Given the description of an element on the screen output the (x, y) to click on. 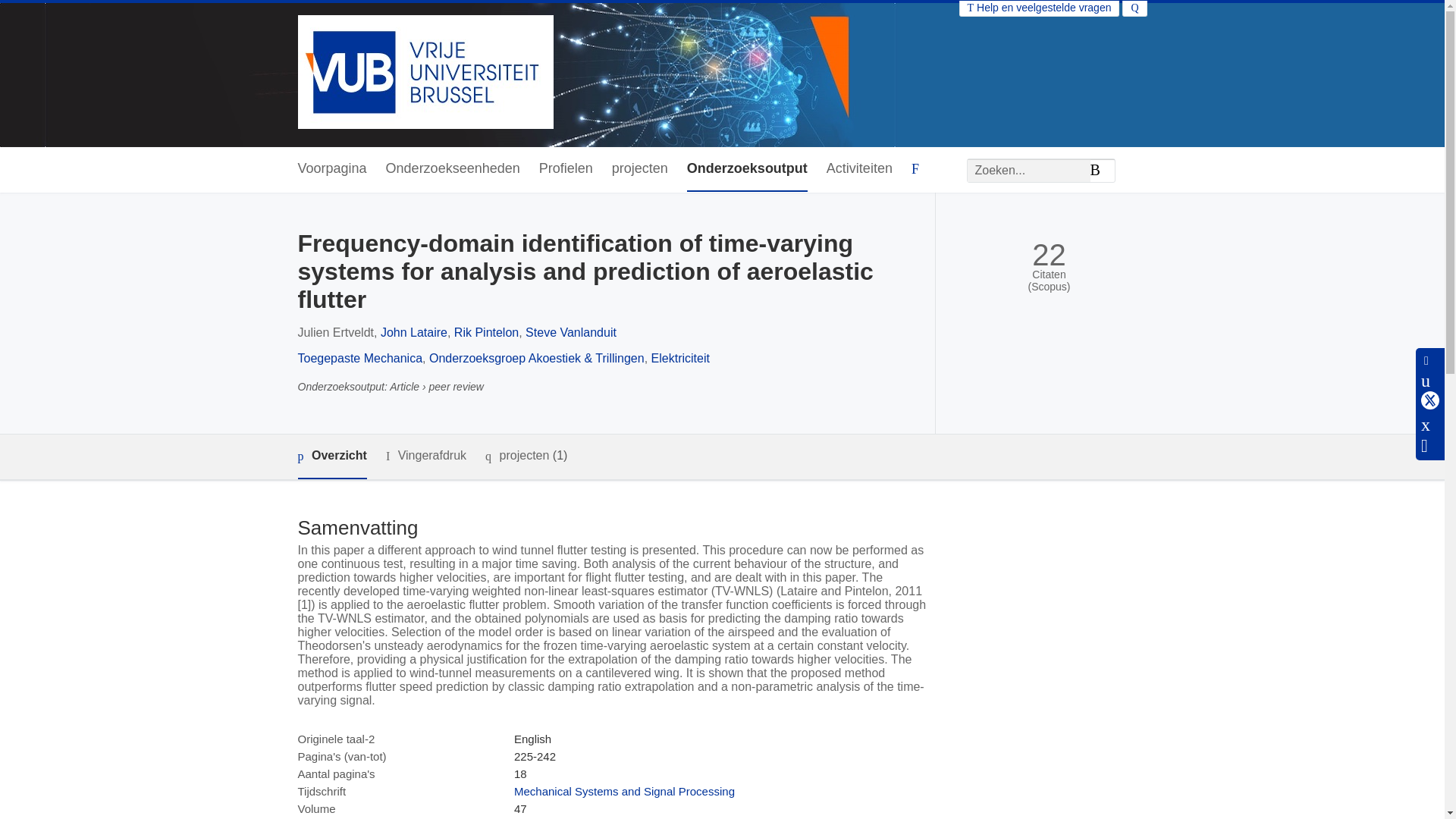
Steve Vanlanduit (570, 332)
Profielen (565, 169)
Vingerafdruk (425, 455)
Onderzoeksoutput (747, 169)
Elektriciteit (680, 358)
Rik Pintelon (486, 332)
Onderzoekseenheden (452, 169)
Help en veelgestelde vragen (1039, 7)
Vrije Universiteit Brussel Voorpagina (425, 73)
